Given the description of an element on the screen output the (x, y) to click on. 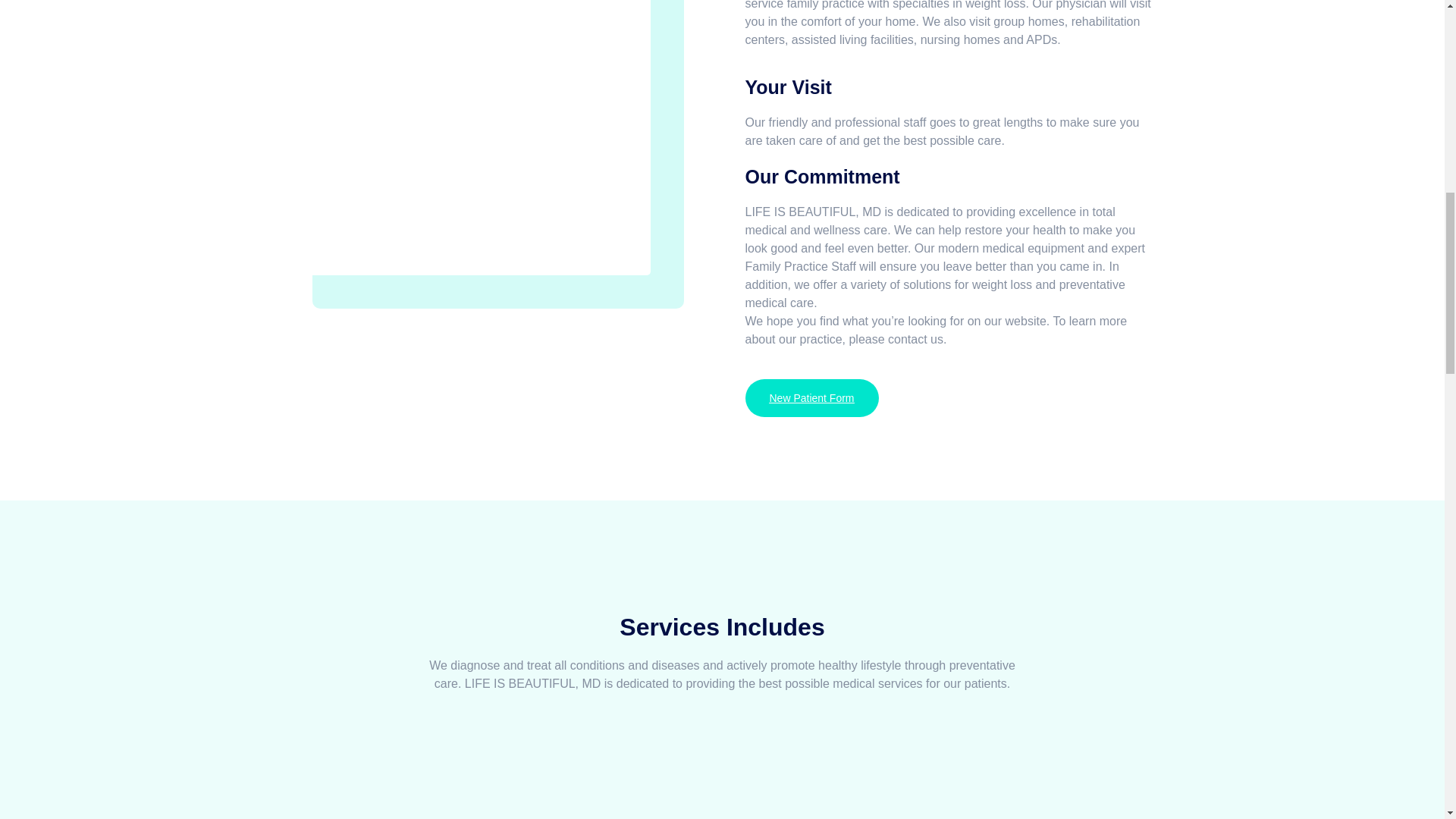
New Patient Form (810, 397)
